Given the description of an element on the screen output the (x, y) to click on. 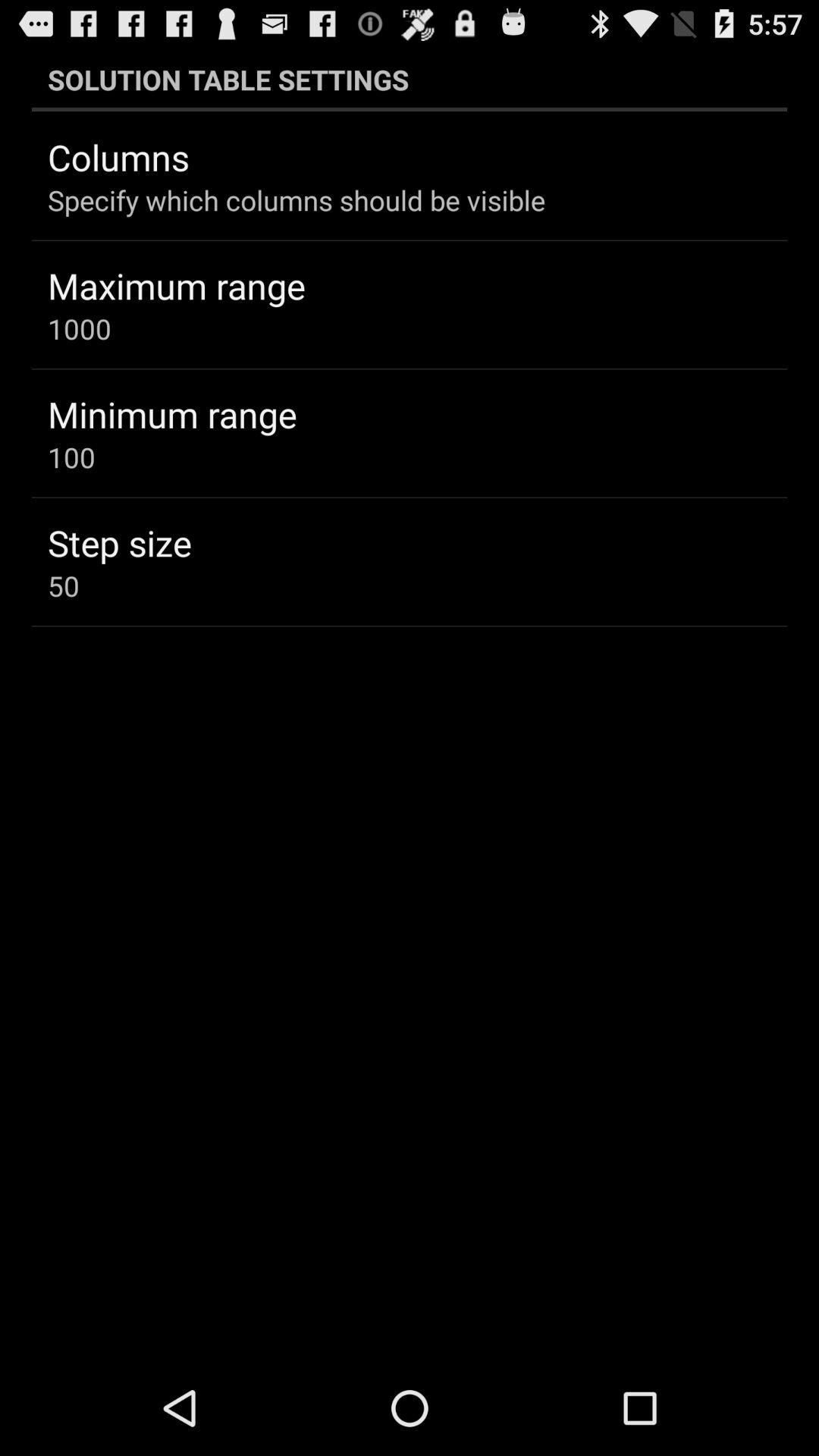
choose item below step size item (63, 585)
